Given the description of an element on the screen output the (x, y) to click on. 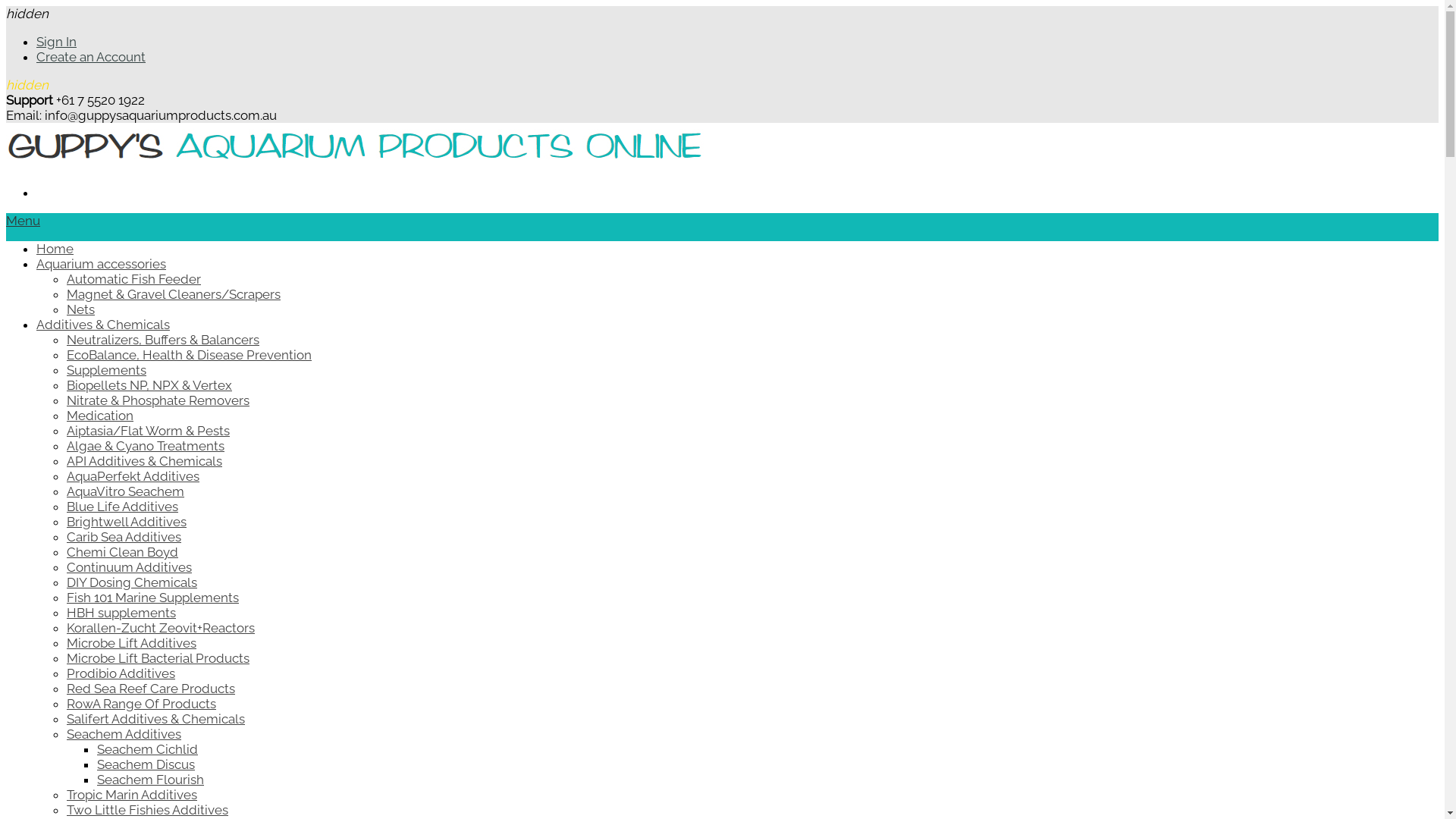
Aiptasia/Flat Worm & Pests Element type: text (147, 430)
Aquarium accessories Element type: text (101, 263)
Nets Element type: text (80, 308)
Brightwell Additives Element type: text (126, 521)
Sign In Element type: text (56, 41)
Seachem Flourish Element type: text (150, 779)
logo Element type: hover (354, 164)
Carib Sea Additives Element type: text (123, 536)
Seachem Cichlid Element type: text (147, 748)
DIY Dosing Chemicals Element type: text (131, 581)
Neutralizers, Buffers & Balancers Element type: text (162, 339)
Additives & Chemicals Element type: text (102, 324)
EcoBalance, Health & Disease Prevention Element type: text (188, 354)
Chemi Clean Boyd Element type: text (122, 551)
Red Sea Reef Care Products Element type: text (150, 688)
Medication Element type: text (99, 415)
Prodibio Additives Element type: text (120, 672)
Microbe Lift Bacterial Products Element type: text (157, 657)
AquaVitro Seachem Element type: text (125, 490)
Seachem Discus Element type: text (145, 763)
Blue Life Additives Element type: text (122, 506)
AquaPerfekt Additives Element type: text (132, 475)
Supplements Element type: text (106, 369)
Fish 101 Marine Supplements Element type: text (152, 597)
Tropic Marin Additives Element type: text (131, 794)
Home Element type: text (54, 248)
Automatic Fish Feeder Element type: text (133, 278)
Korallen-Zucht Zeovit+Reactors Element type: text (160, 627)
Magnet & Gravel Cleaners/Scrapers Element type: text (173, 293)
Menu Element type: text (23, 220)
Biopellets NP, NPX & Vertex Element type: text (149, 384)
Salifert Additives & Chemicals Element type: text (155, 718)
Microbe Lift Additives Element type: text (131, 642)
HBH supplements Element type: text (120, 612)
Two Little Fishies Additives Element type: text (147, 809)
Continuum Additives Element type: text (128, 566)
Create an Account Element type: text (90, 56)
Seachem Additives Element type: text (123, 733)
RowA Range Of Products Element type: text (141, 703)
API Additives & Chemicals Element type: text (144, 460)
Nitrate & Phosphate Removers Element type: text (157, 399)
Algae & Cyano Treatments Element type: text (145, 445)
